Given the description of an element on the screen output the (x, y) to click on. 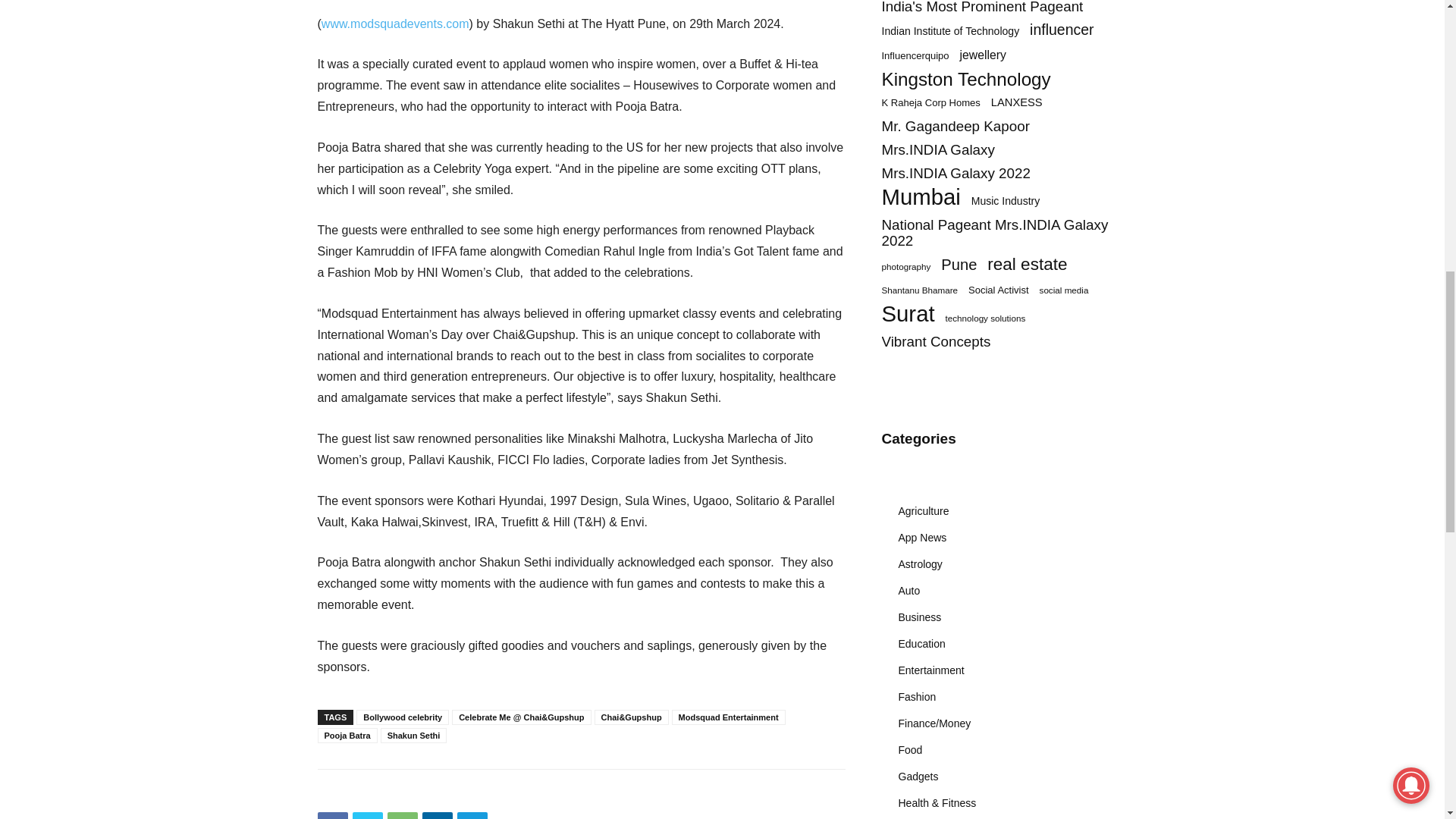
WhatsApp (401, 815)
Twitter (366, 815)
Facebook (332, 815)
